Given the description of an element on the screen output the (x, y) to click on. 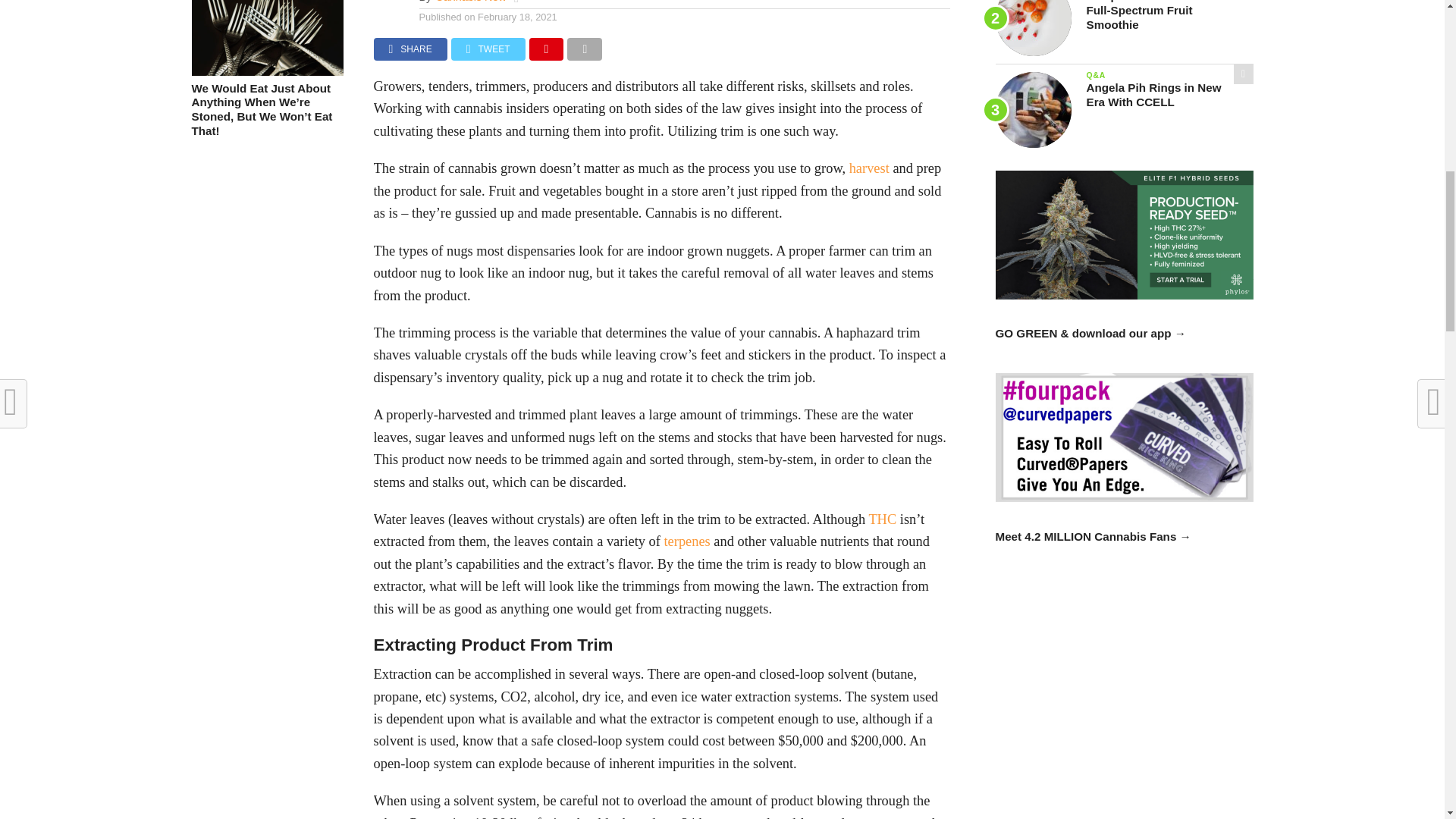
Posts by Cannabis Now (470, 1)
